Given the description of an element on the screen output the (x, y) to click on. 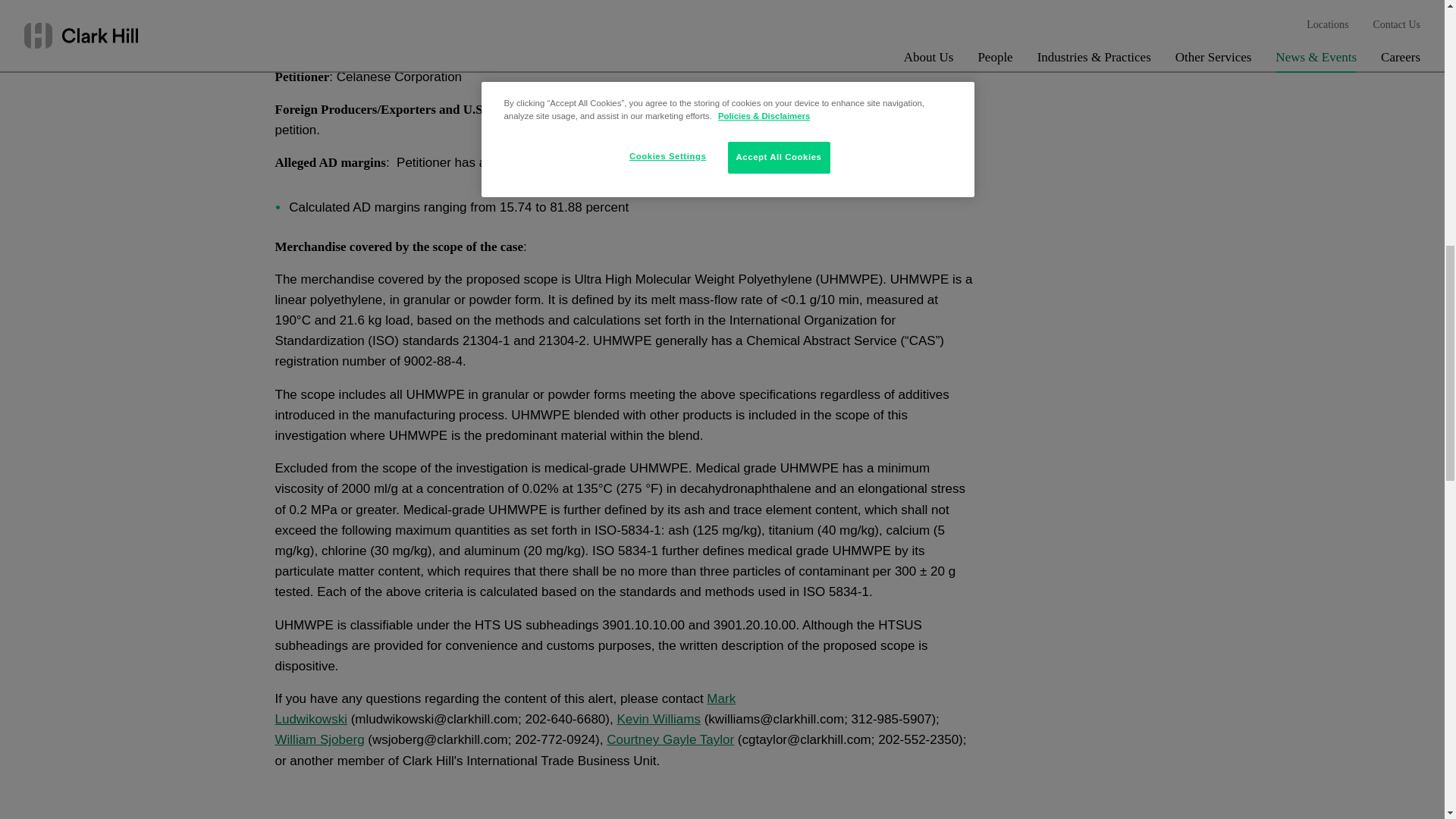
Kevin Williams (657, 718)
Mark Ludwikowski (505, 708)
William Sjoberg (319, 739)
Courtney Gayle Taylor (670, 739)
